Given the description of an element on the screen output the (x, y) to click on. 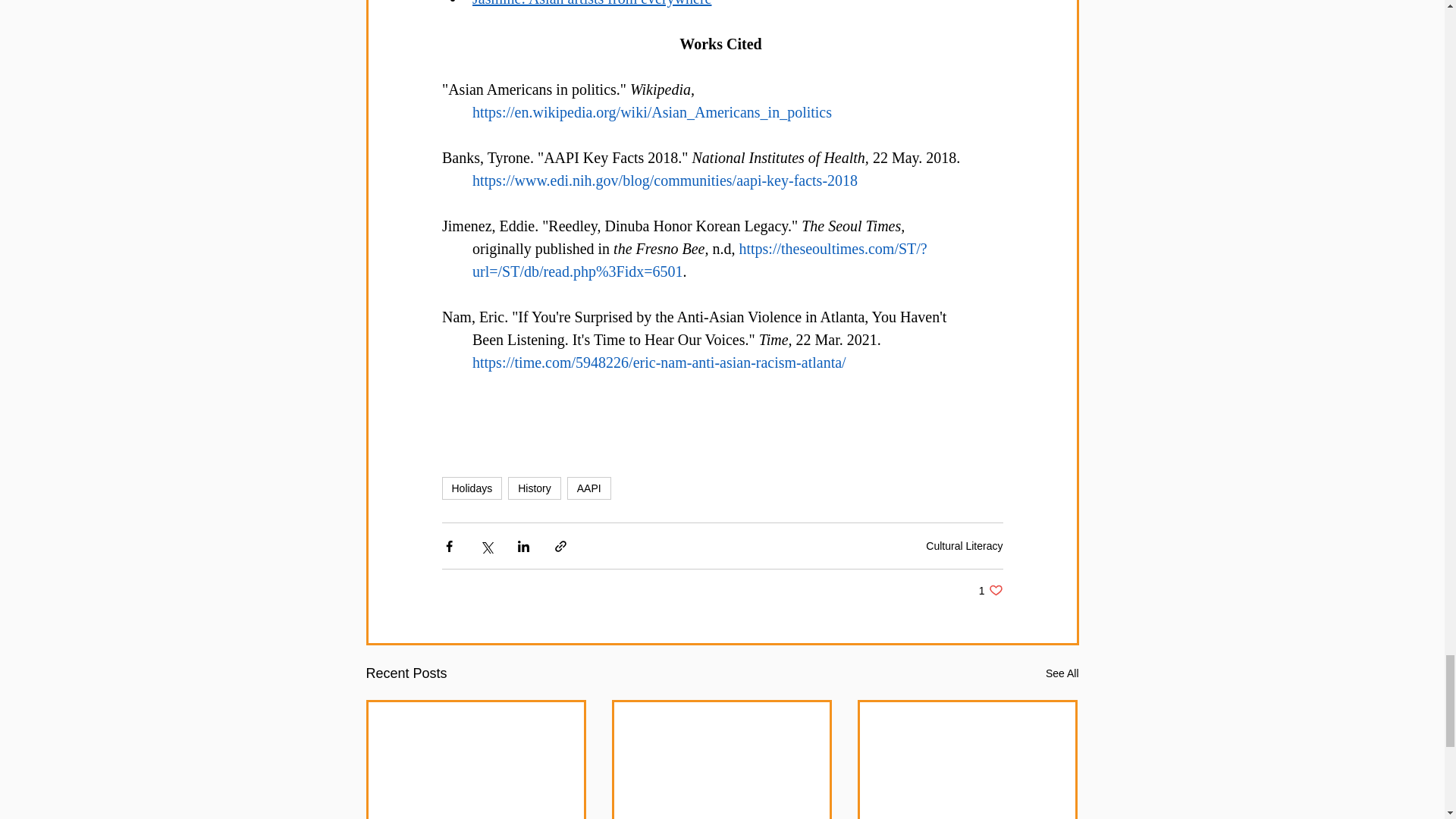
Jasmine: Asian artists from everywhere (590, 3)
